Given the description of an element on the screen output the (x, y) to click on. 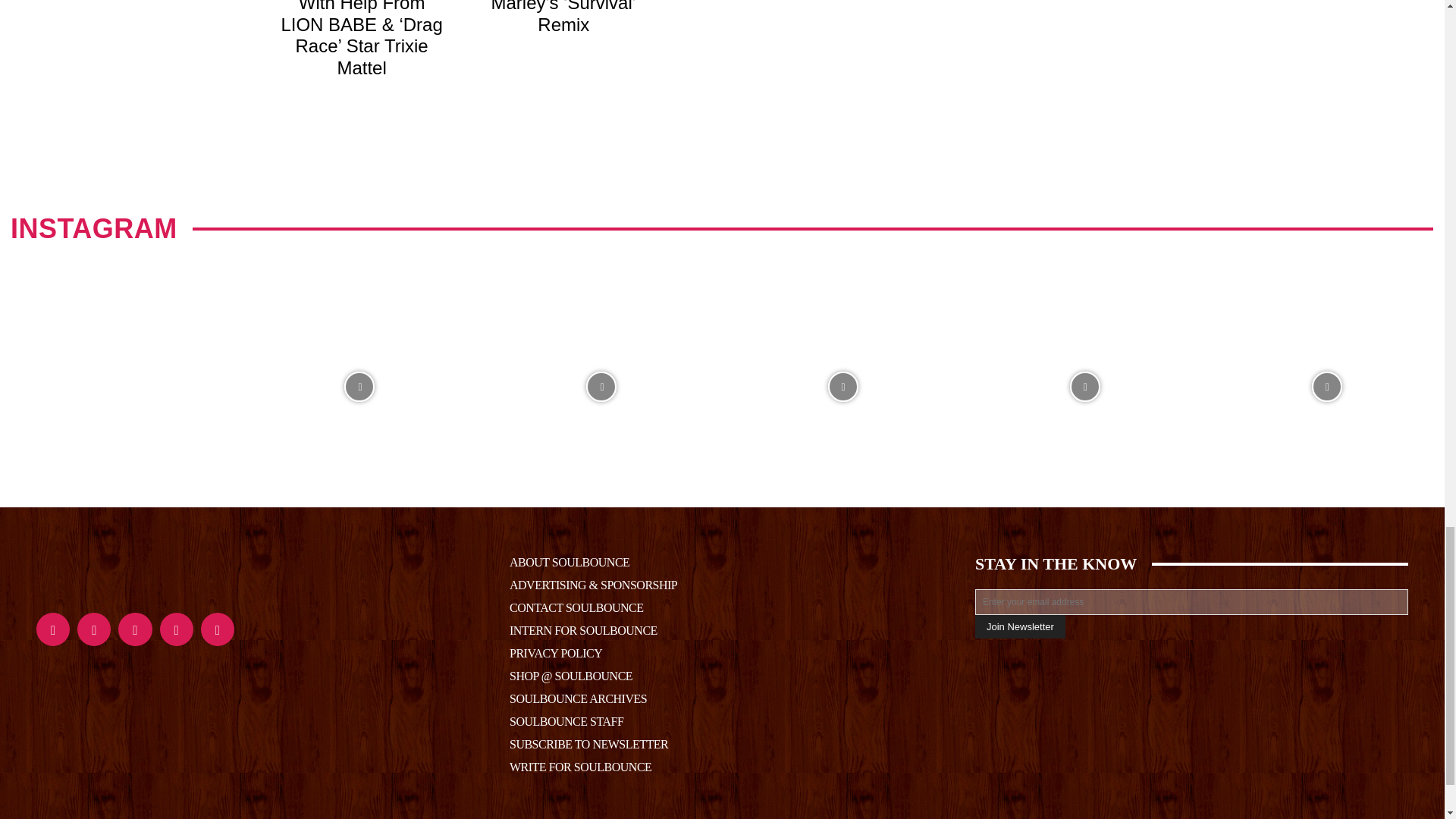
Join Newsletter (1020, 626)
